Given the description of an element on the screen output the (x, y) to click on. 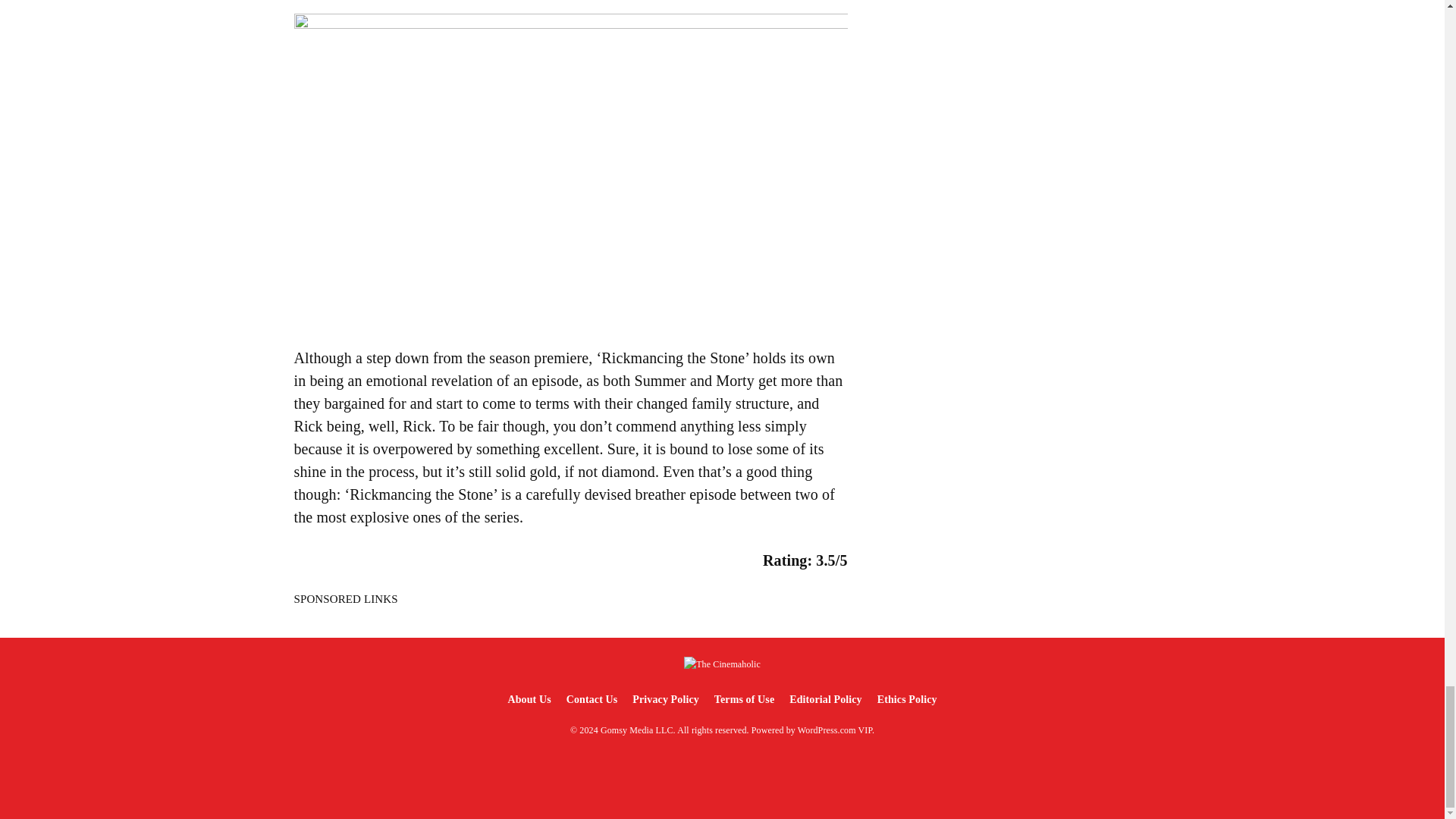
Privacy Policy (665, 699)
Ethics Policy (906, 699)
About Us (528, 699)
Terms of Use (743, 699)
Editorial Policy (825, 699)
Contact Us (592, 699)
WordPress.com VIP (834, 729)
